Given the description of an element on the screen output the (x, y) to click on. 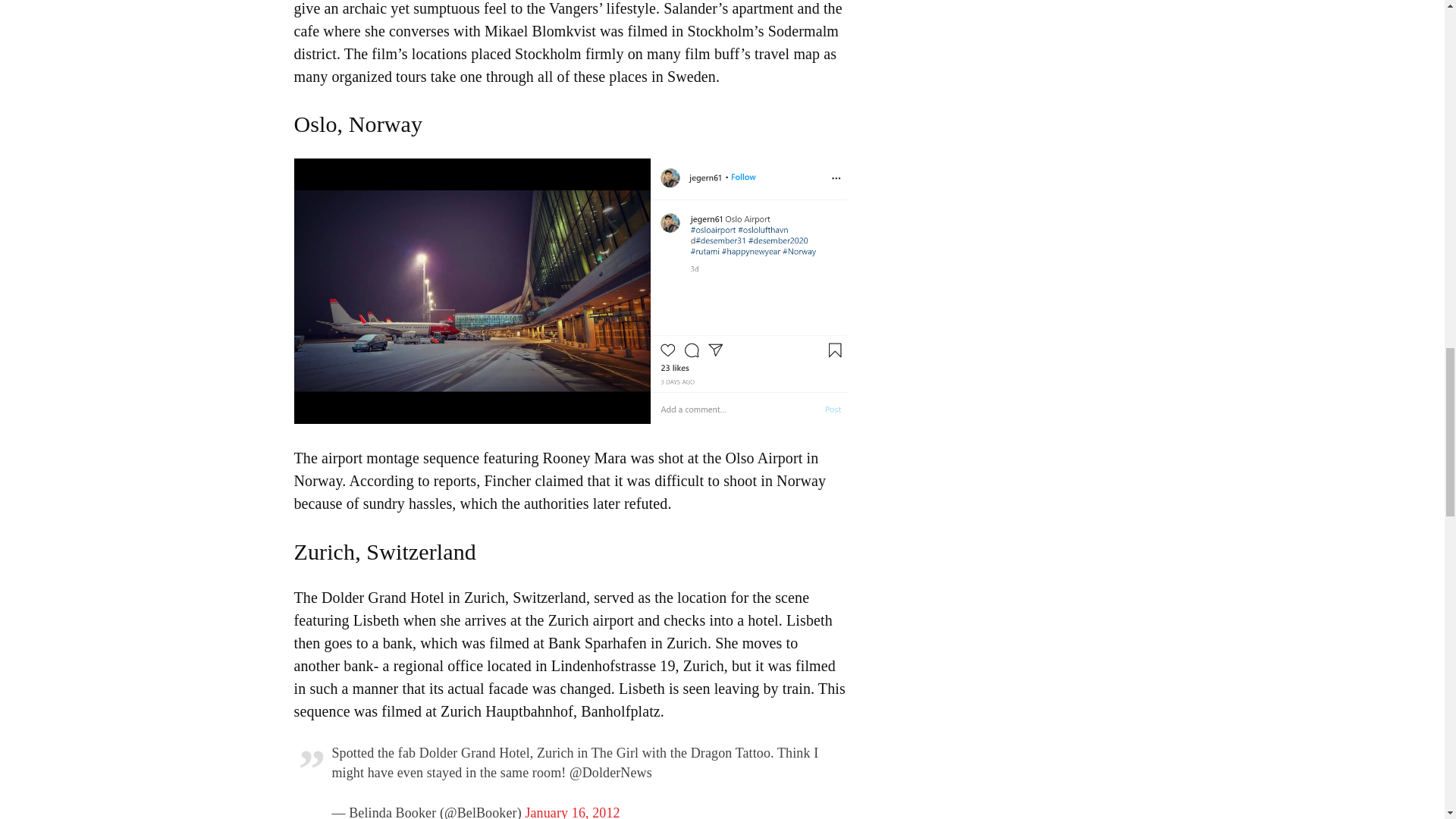
January 16, 2012 (572, 812)
